Given the description of an element on the screen output the (x, y) to click on. 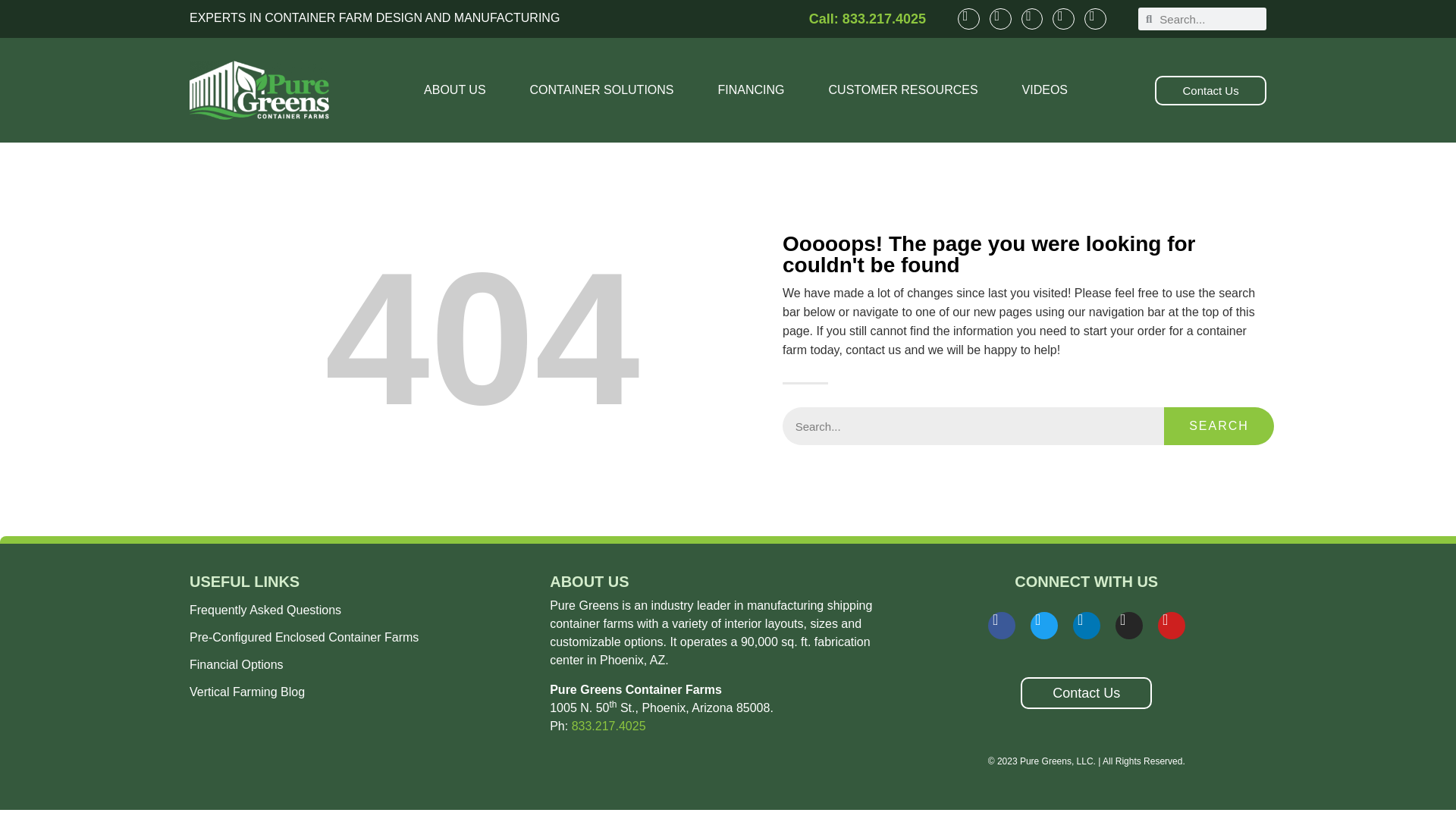
Frequently Asked Questions (361, 610)
ABOUT US (454, 89)
FINANCING (751, 89)
SEARCH (1218, 426)
VIDEOS (1045, 89)
Financial Options (361, 664)
CONTAINER SOLUTIONS (601, 89)
Pre-Configured Enclosed Container Farms (361, 637)
CUSTOMER RESOURCES (902, 89)
Contact Us (1210, 90)
